Given the description of an element on the screen output the (x, y) to click on. 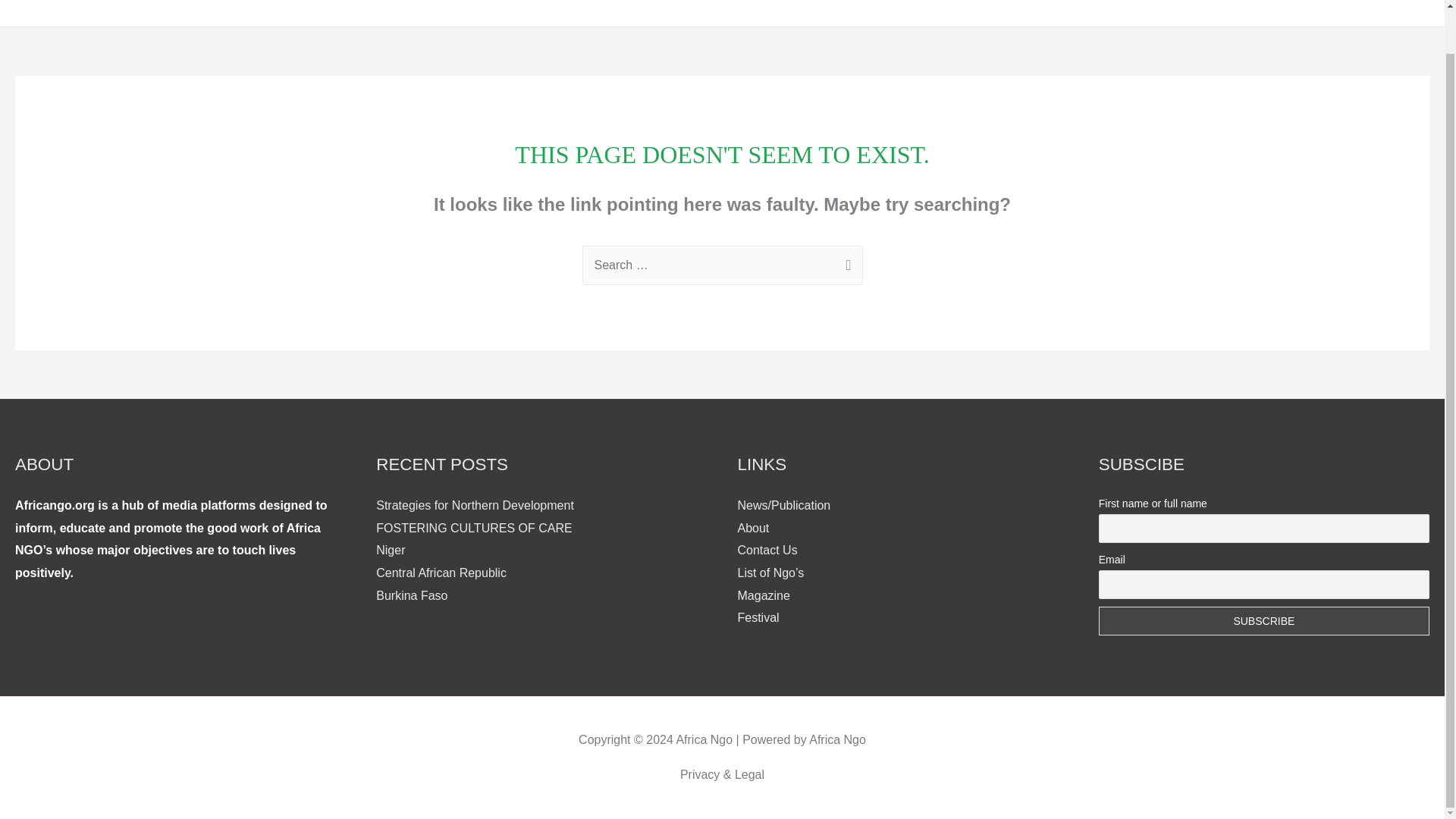
Burkina Faso (410, 594)
Magazine (762, 594)
FOSTERING CULTURES OF CARE (473, 527)
Home (1077, 7)
About (1316, 7)
Contact Us (1387, 7)
About (752, 527)
Contact Us (766, 549)
Subscribe (1264, 620)
Festival (1255, 7)
